Given the description of an element on the screen output the (x, y) to click on. 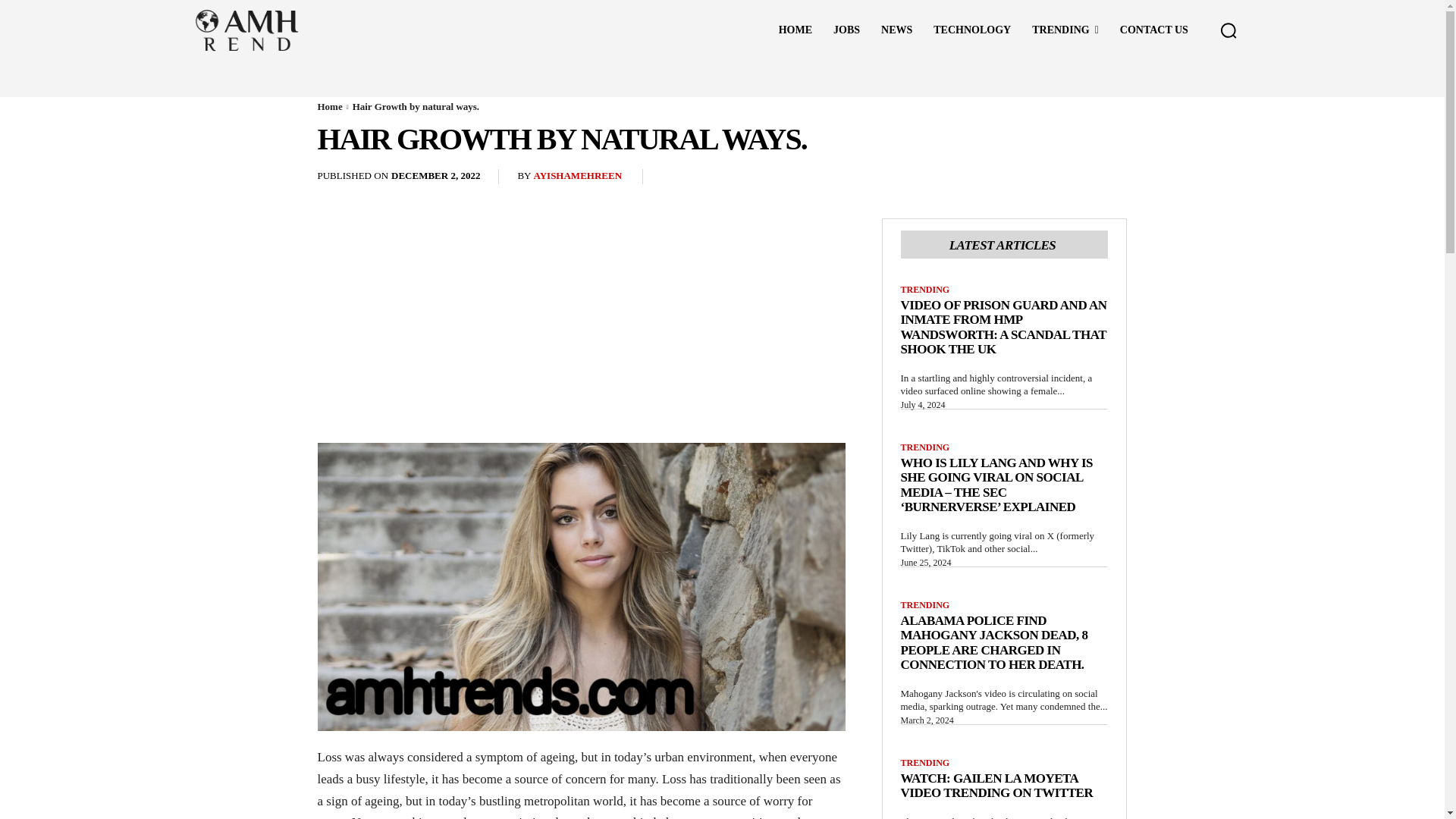
HOME (795, 30)
AYISHAMEHREEN (576, 175)
Advertisement (582, 330)
TRENDING (1065, 30)
CONTACT US (1153, 30)
Home (329, 106)
WATCH: Gailen la Moyeta Video trending On Twitter (997, 785)
